Given the description of an element on the screen output the (x, y) to click on. 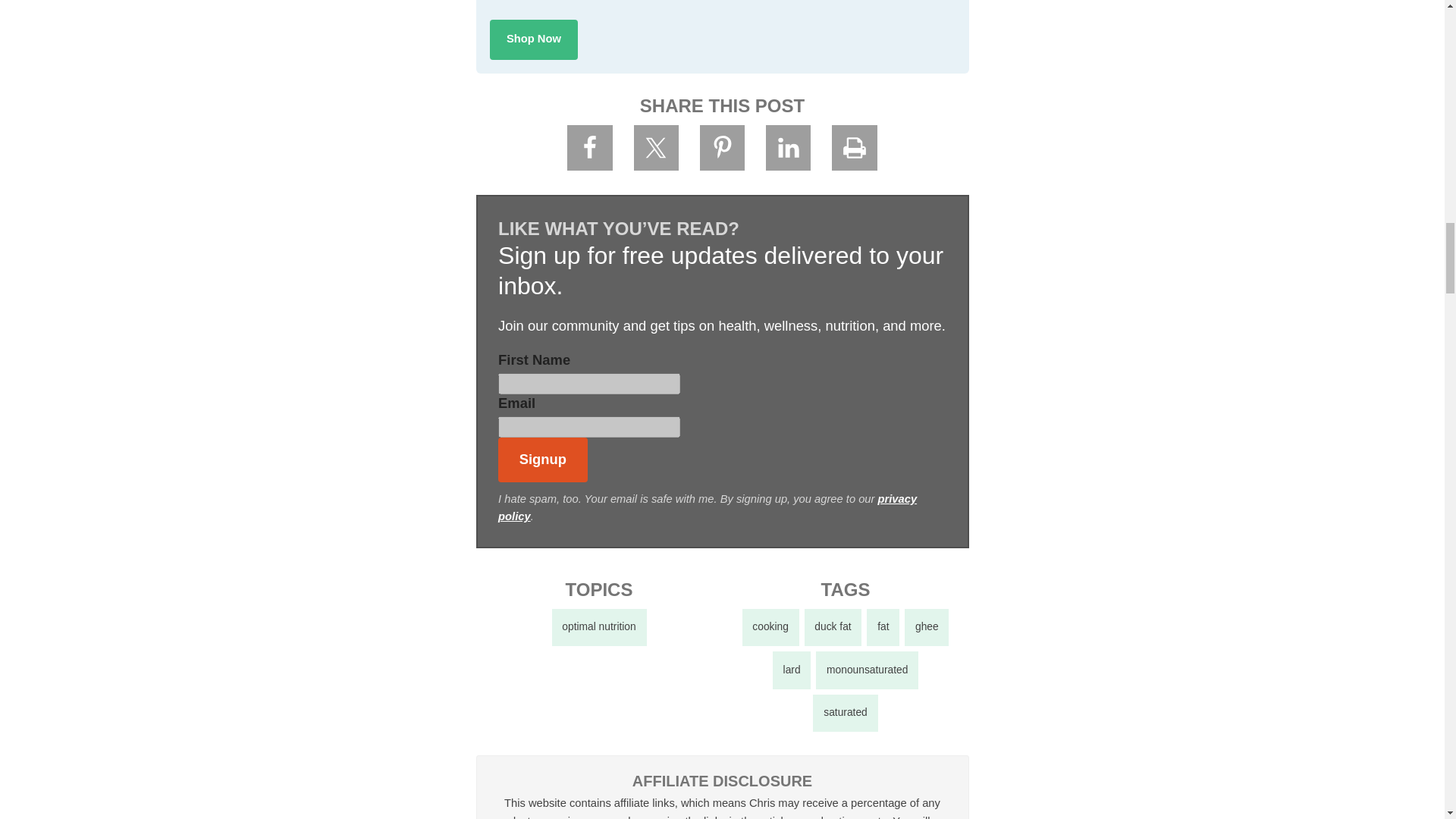
Signup (542, 459)
Shop Now (533, 39)
Share on Facebook (589, 147)
Share on Pinterest (722, 147)
Share on LinkedIn (787, 147)
Share on Twitter (656, 147)
Print this Page (854, 147)
